Given the description of an element on the screen output the (x, y) to click on. 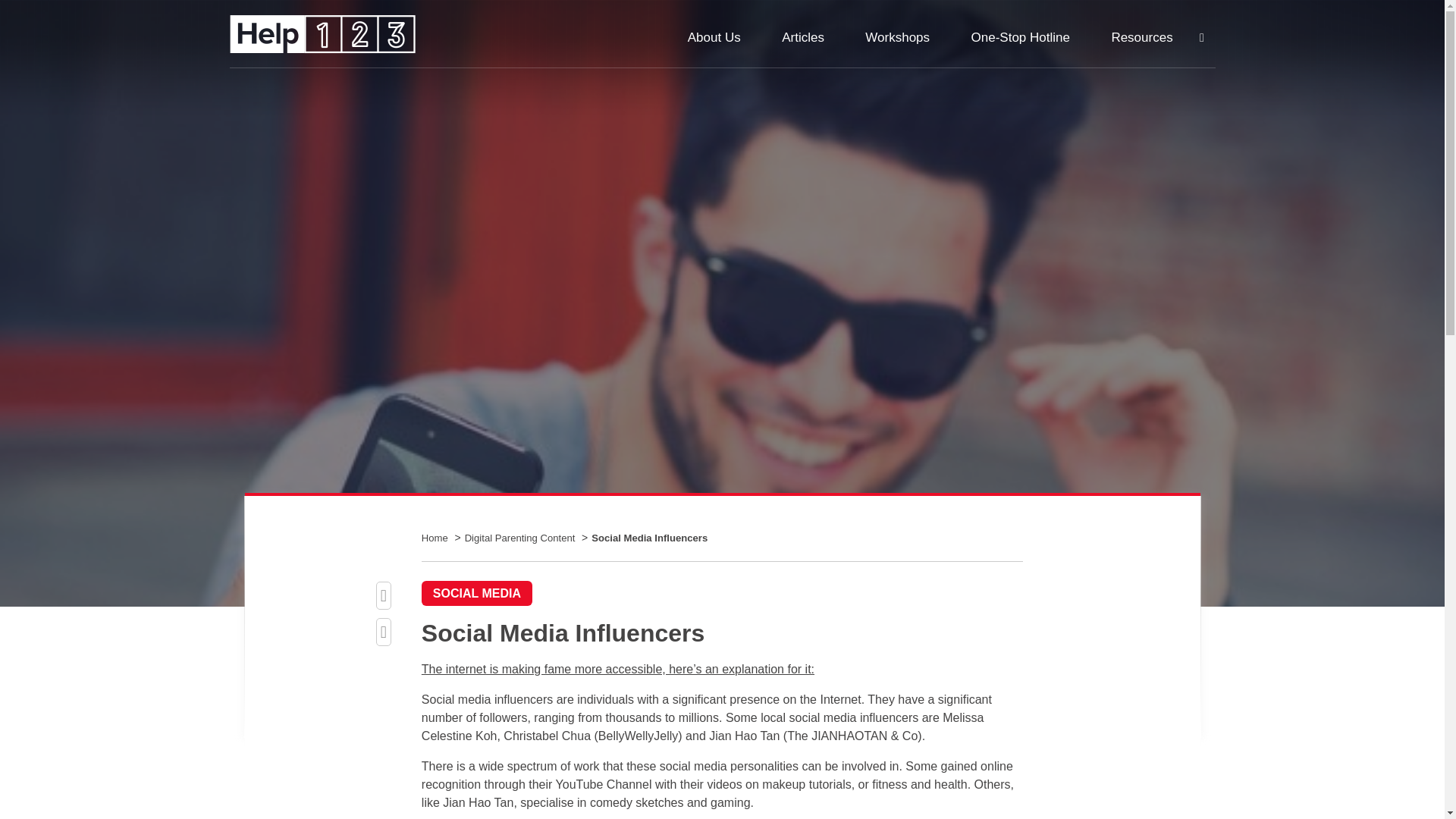
Articles (802, 37)
Resources (1141, 37)
One-Stop Hotline (1020, 37)
Digital Parenting Content (520, 537)
Search (1201, 37)
About Us (714, 37)
Home (438, 537)
Workshops (897, 37)
